Given the description of an element on the screen output the (x, y) to click on. 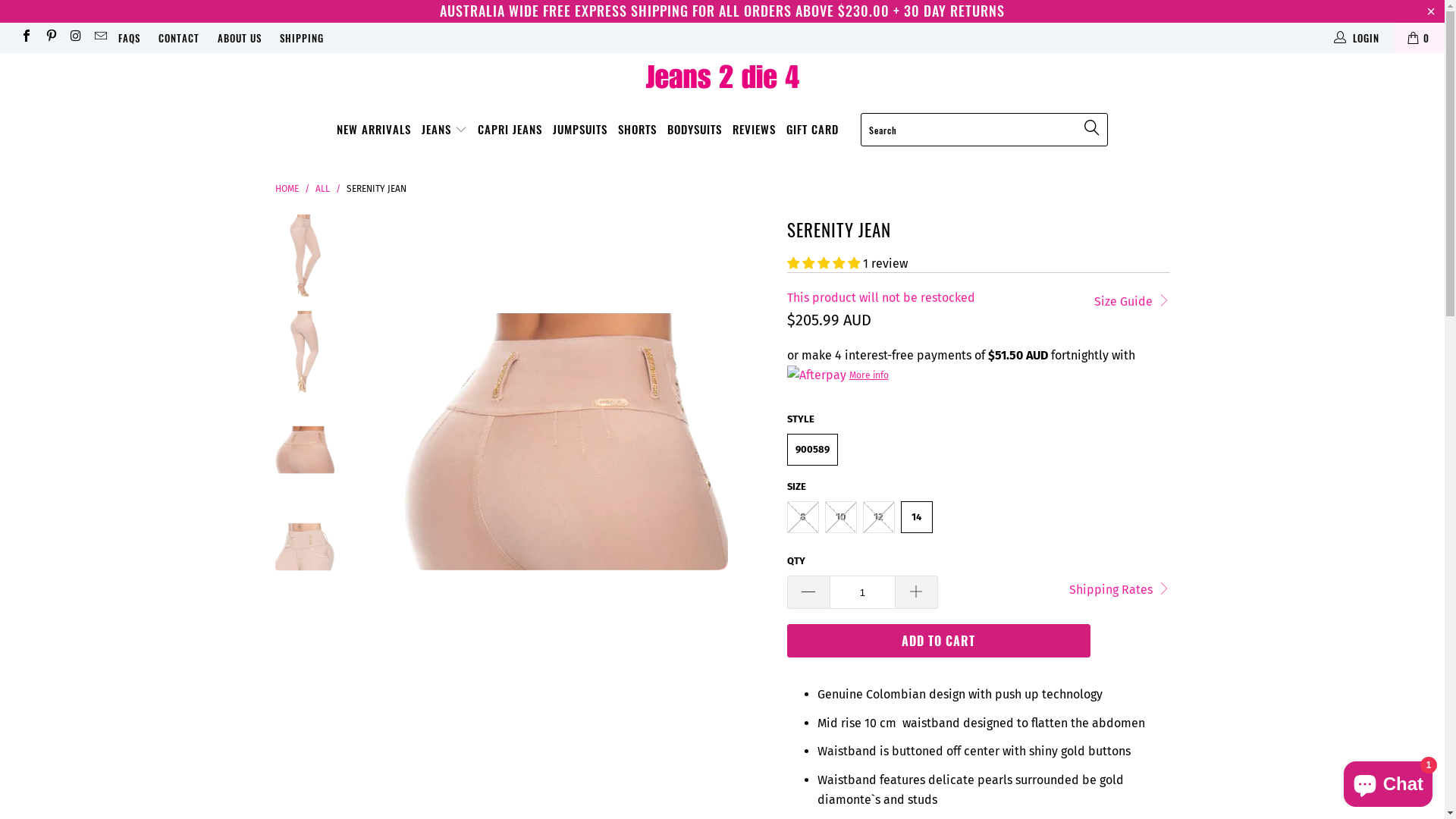
ALL Element type: text (322, 188)
ABOUT US Element type: text (239, 37)
FAQS Element type: text (129, 37)
JEANS Element type: text (444, 129)
Shipping Rates Element type: text (1119, 587)
ADD TO CART Element type: text (938, 640)
HOME Element type: text (286, 188)
More info Element type: text (837, 374)
GIFT CARD Element type: text (812, 129)
Jeans 2 Die 4 on Instagram Element type: hover (74, 37)
Jeans 2 Die 4 Element type: hover (722, 78)
SHORTS Element type: text (637, 129)
Jeans 2 Die 4 on Pinterest Element type: hover (49, 37)
SHIPPING Element type: text (301, 37)
Jeans 2 Die 4 on Facebook Element type: hover (25, 37)
REVIEWS Element type: text (753, 129)
NEW ARRIVALS Element type: text (373, 129)
Email Jeans 2 Die 4 Element type: hover (99, 37)
Size Guide Element type: text (1131, 299)
JUMPSUITS Element type: text (579, 129)
CONTACT Element type: text (178, 37)
BODYSUITS Element type: text (694, 129)
CAPRI JEANS Element type: text (509, 129)
Shopify online store chat Element type: hover (1388, 780)
0 Element type: text (1419, 37)
LOGIN Element type: text (1356, 37)
